Given the description of an element on the screen output the (x, y) to click on. 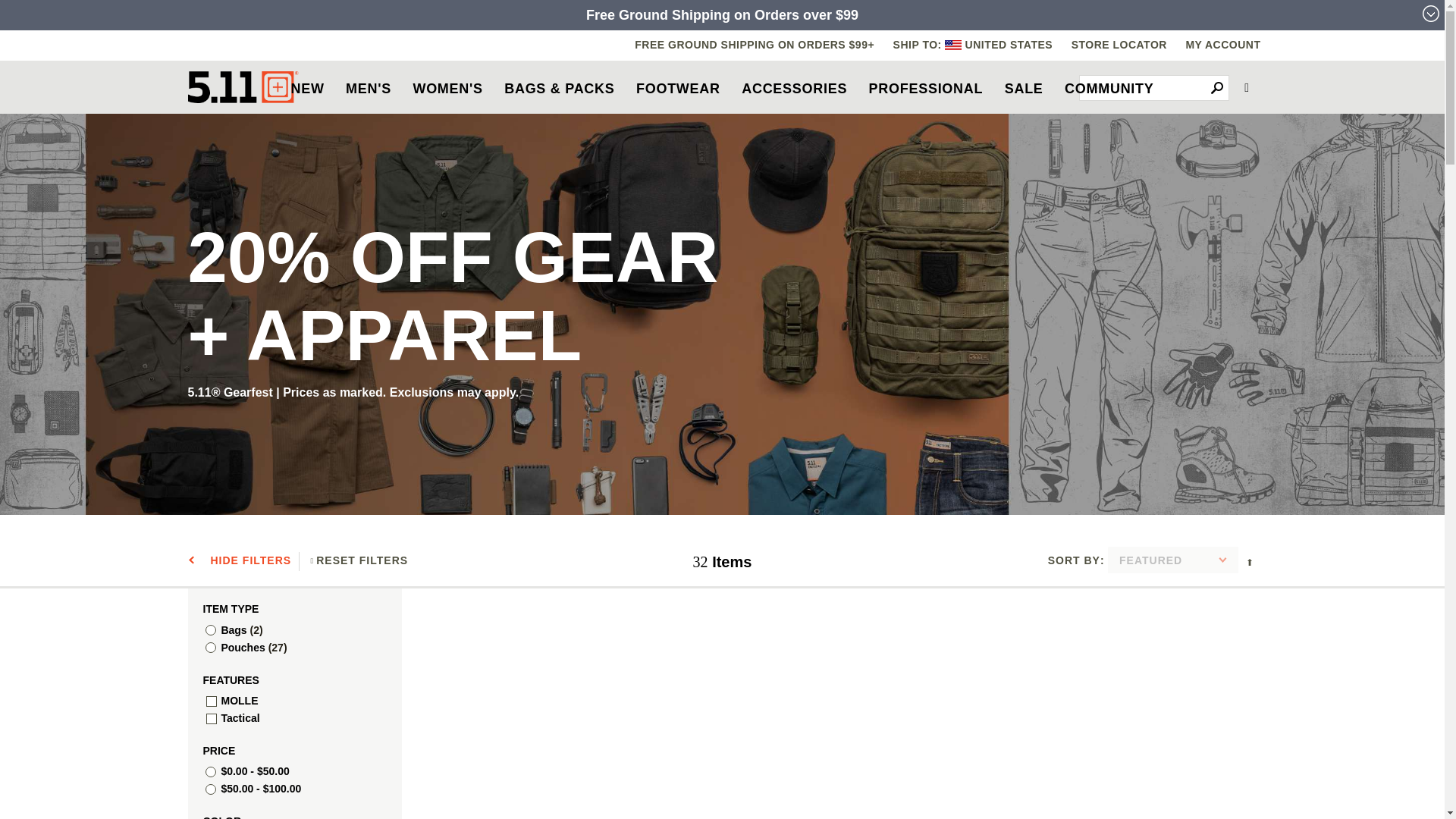
Tactical Gear (242, 87)
Submit (1216, 87)
NEW (307, 88)
Tactical Gear (242, 87)
MY ACCOUNT (1222, 44)
New Tactical Gear (307, 88)
STORE LOCATOR (1119, 44)
